Given the description of an element on the screen output the (x, y) to click on. 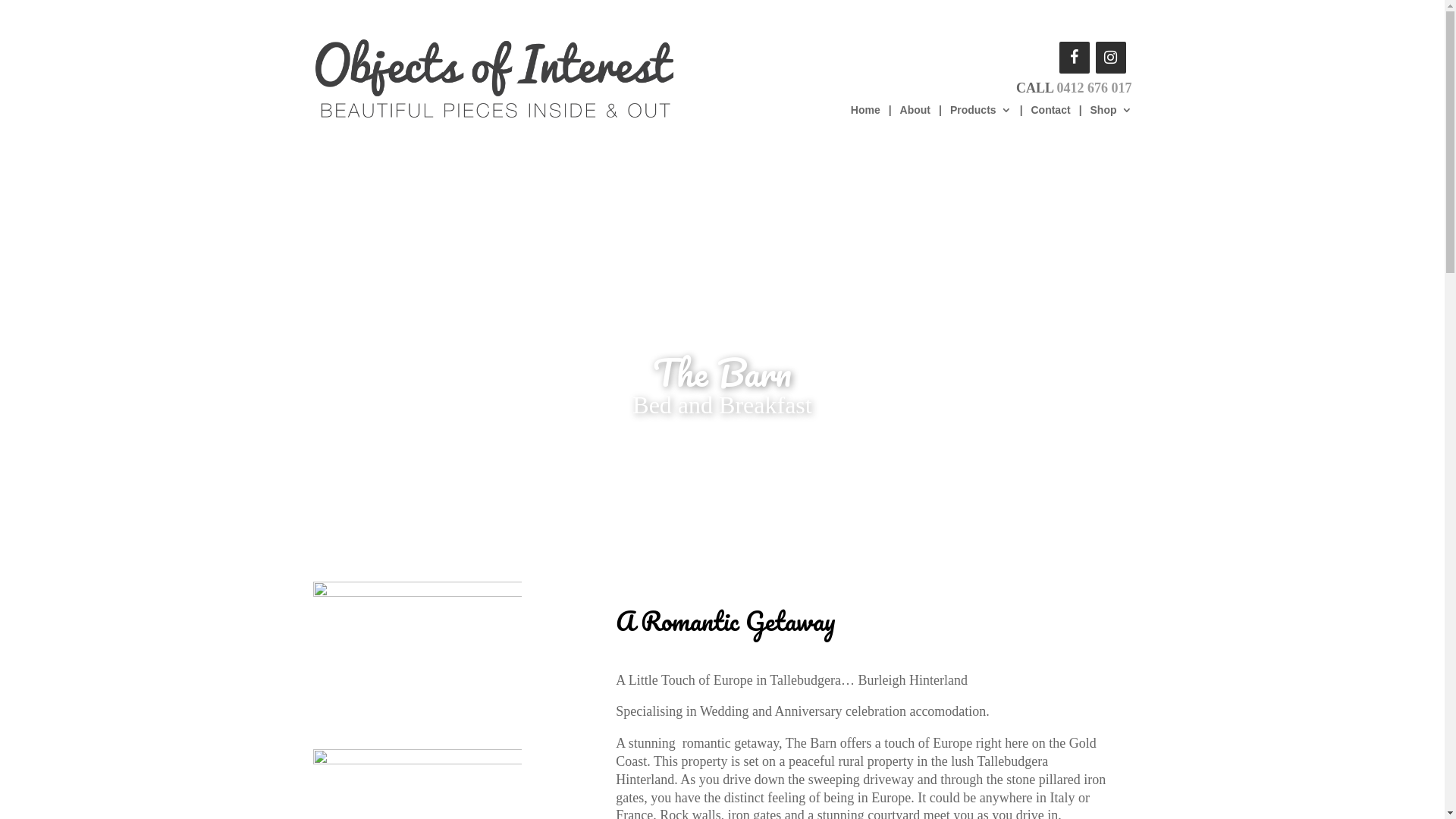
Instagram Element type: hover (1110, 57)
0412 676 017 Element type: text (1094, 87)
Contact Element type: text (1050, 130)
About Element type: text (915, 130)
Home Element type: text (865, 130)
Shop Element type: text (1111, 130)
Facebook Element type: hover (1073, 57)
Products Element type: text (980, 130)
